Given the description of an element on the screen output the (x, y) to click on. 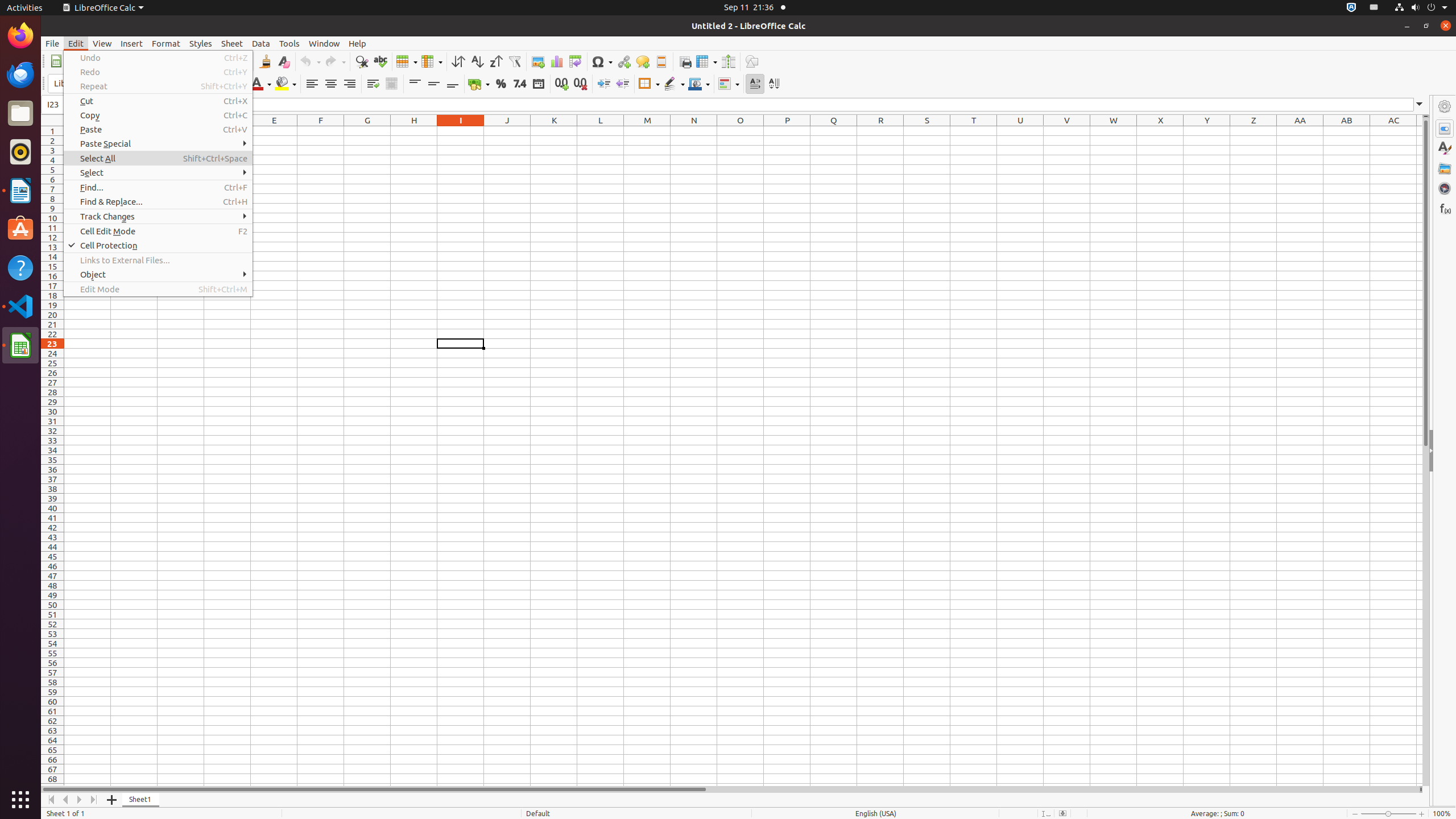
Conditional Element type: push-button (728, 83)
S1 Element type: table-cell (926, 130)
Properties Element type: radio-button (1444, 128)
View Element type: menu (102, 43)
